Given the description of an element on the screen output the (x, y) to click on. 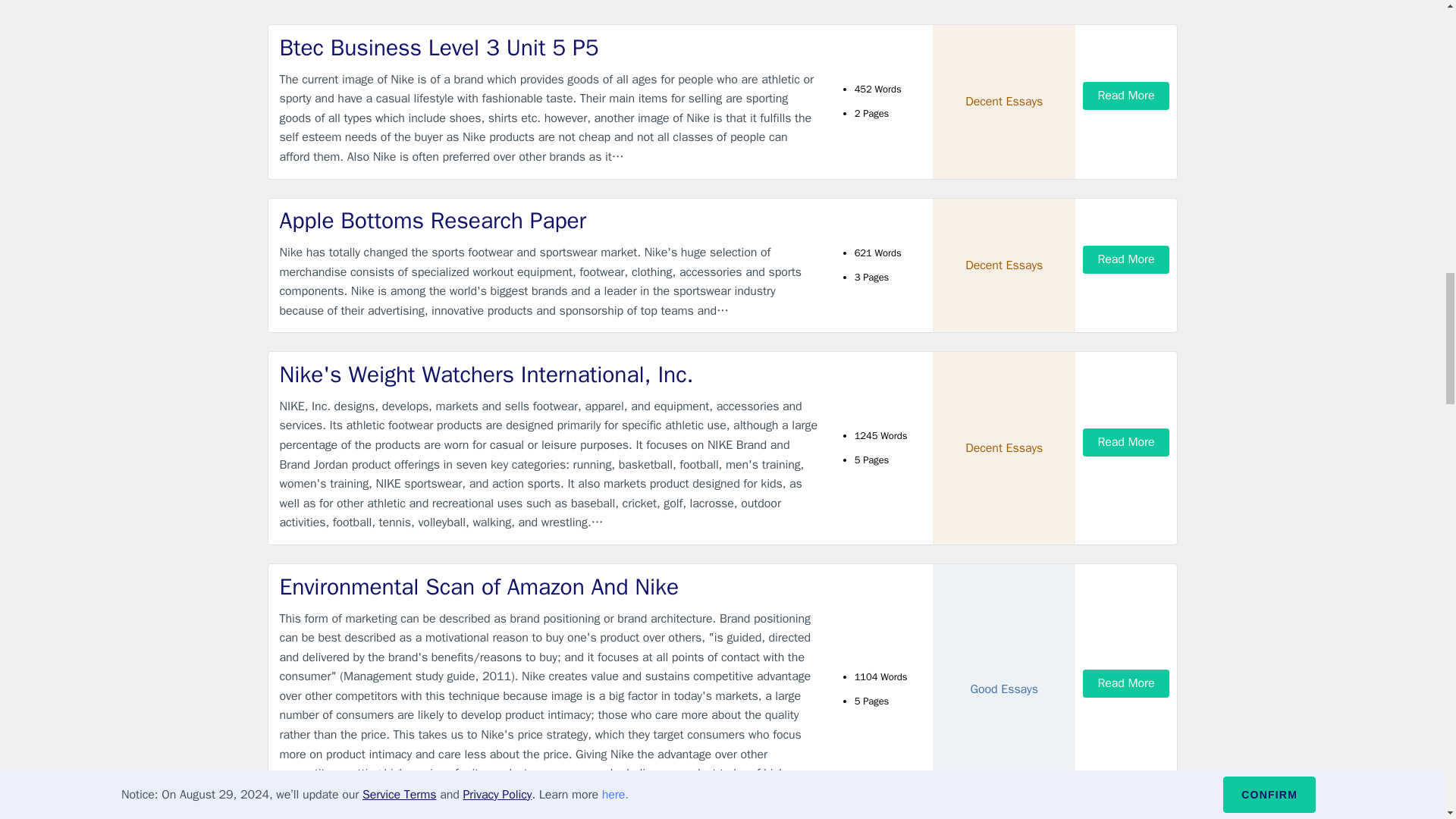
Nike's Weight Watchers International, Inc. (548, 374)
Btec Business Level 3 Unit 5 P5 (548, 47)
Read More (1126, 683)
Read More (1126, 442)
Environmental Scan of Amazon And Nike (548, 586)
Read More (1126, 259)
Read More (1126, 95)
Apple Bottoms Research Paper (548, 220)
